Given the description of an element on the screen output the (x, y) to click on. 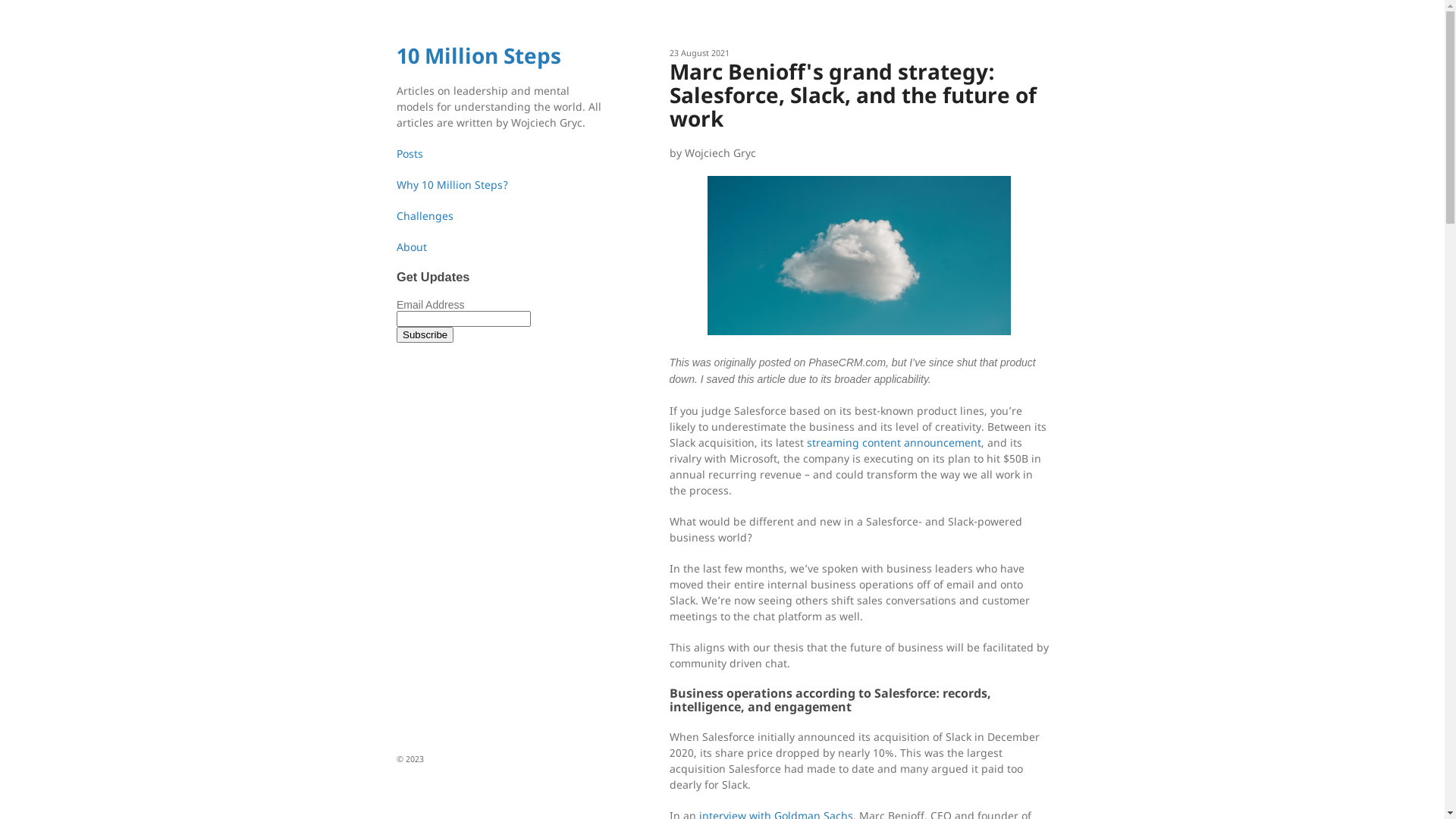
Subscribe Element type: text (423, 334)
Posts Element type: text (408, 153)
10 Million Steps Element type: text (477, 54)
Challenges Element type: text (423, 215)
streaming content announcement Element type: text (893, 442)
About Element type: text (410, 246)
Why 10 Million Steps? Element type: text (451, 184)
